Given the description of an element on the screen output the (x, y) to click on. 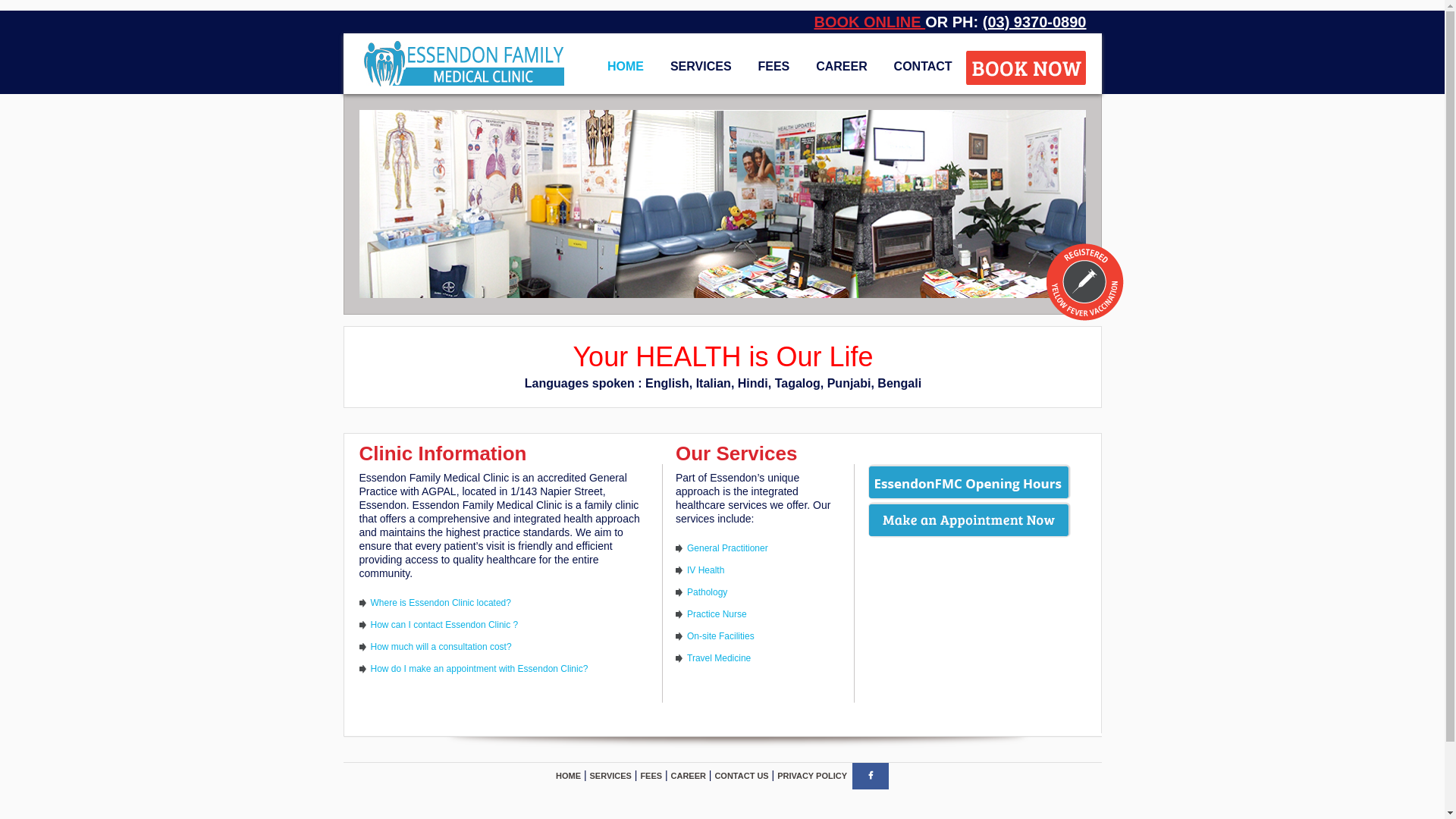
FEES Element type: text (773, 66)
HOME Element type: text (625, 66)
CONTACT US Element type: text (741, 775)
CAREER Element type: text (841, 66)
Where is Essendon Clinic located? Element type: text (440, 602)
PRIVACY POLICY Element type: text (812, 775)
Pathology Element type: text (707, 591)
HOME Element type: text (567, 775)
CONTACT Element type: text (923, 66)
How much will a consultation cost? Element type: text (440, 646)
IV Health Element type: text (705, 569)
SERVICES Element type: text (700, 66)
Travel Medicine Element type: text (718, 657)
How do I make an appointment with Essendon Clinic? Element type: text (478, 668)
How can I contact Essendon Clinic ? Element type: text (443, 624)
FEES Element type: text (651, 775)
Practice Nurse Element type: text (716, 613)
(03) 9370-0890 Element type: text (1034, 21)
General Practitioner Element type: text (727, 547)
SERVICES Element type: text (610, 775)
On-site Facilities Element type: text (720, 635)
BOOK ONLINE Element type: text (869, 21)
CAREER Element type: text (688, 775)
